Given the description of an element on the screen output the (x, y) to click on. 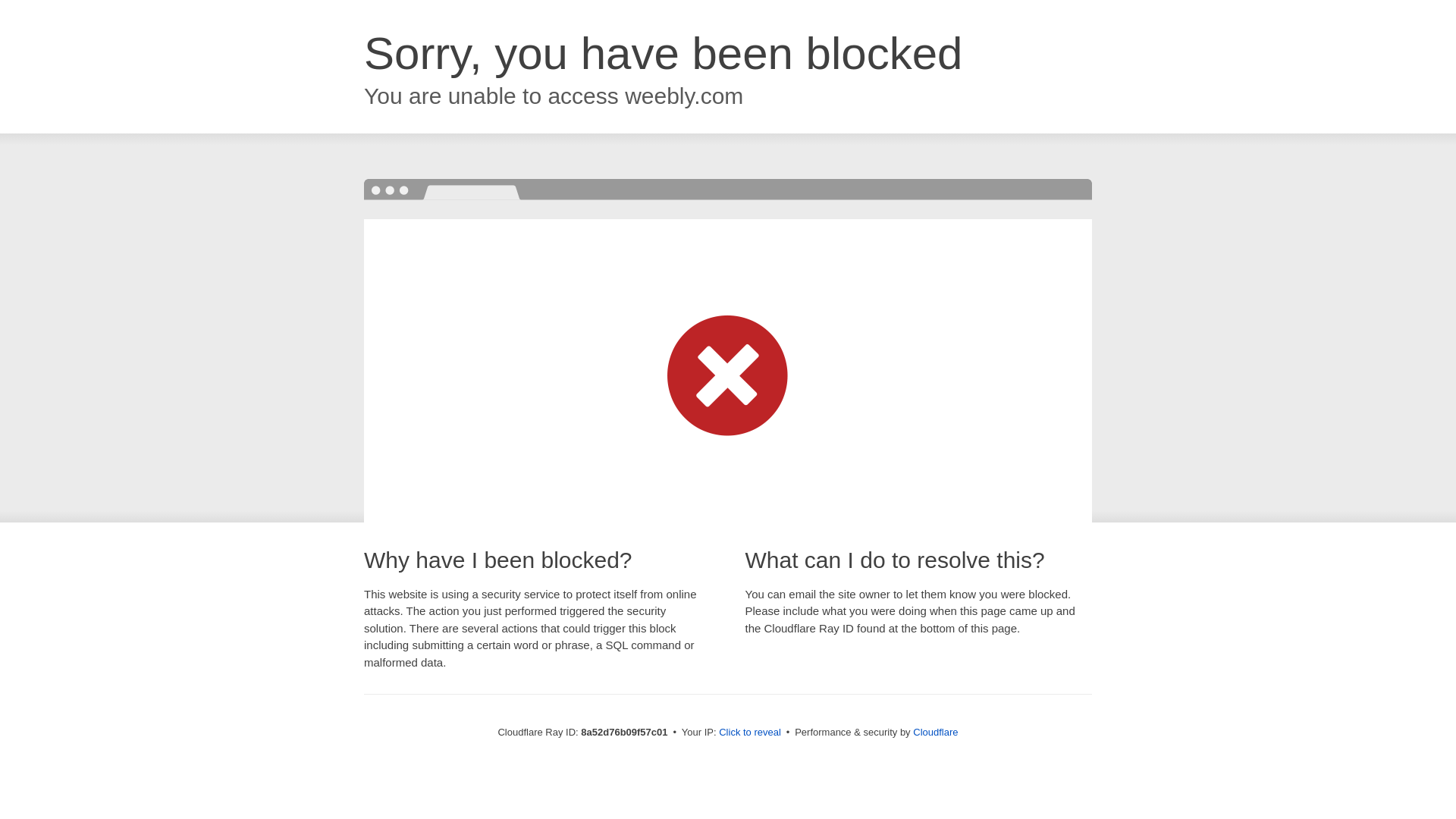
Click to reveal (749, 732)
Cloudflare (935, 731)
